Given the description of an element on the screen output the (x, y) to click on. 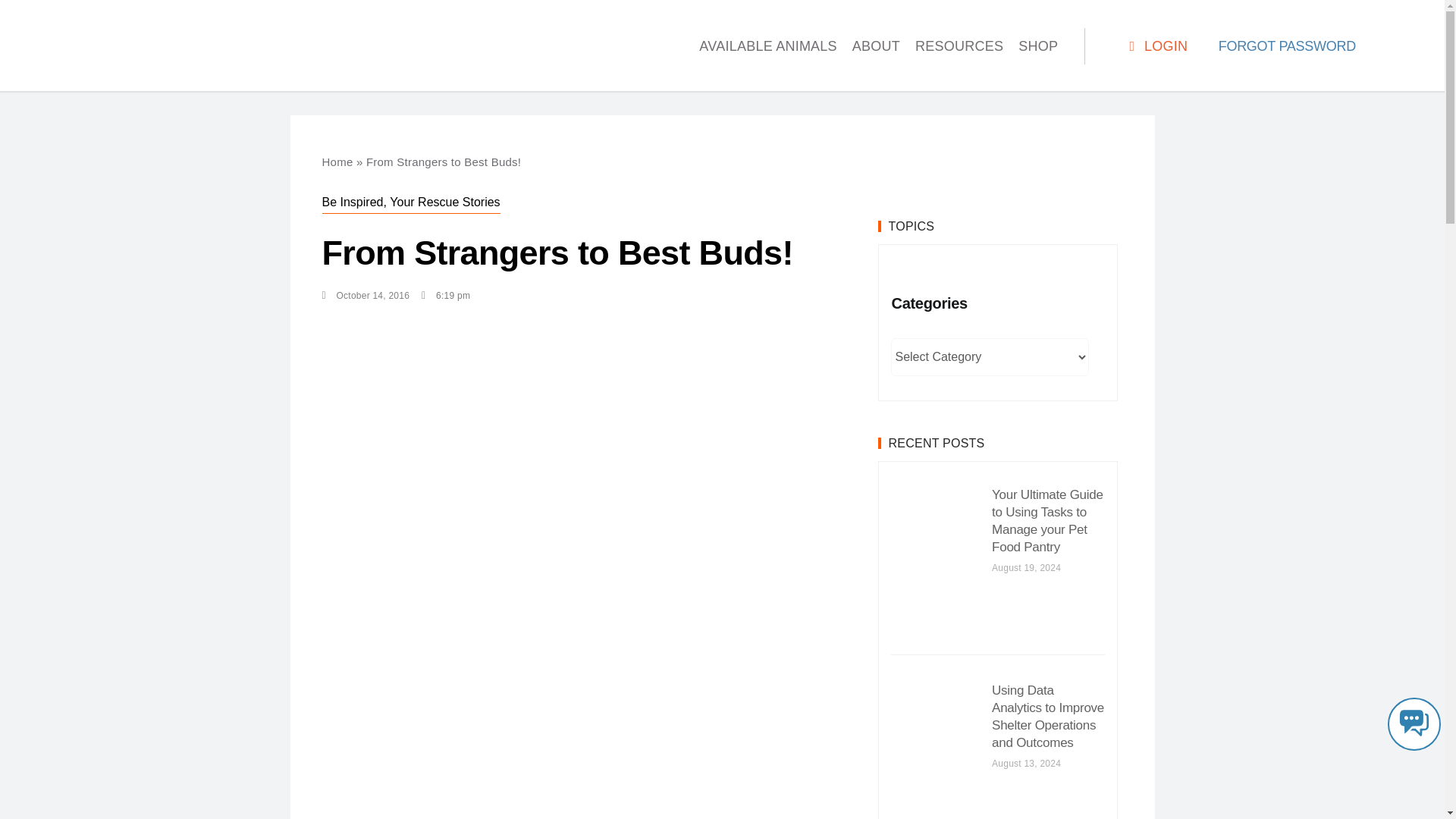
AVAILABLE ANIMALS (767, 45)
SHOP (1037, 45)
LOGIN (1156, 46)
ABOUT (875, 45)
FORGOT PASSWORD (1286, 46)
RESOURCES (958, 45)
